Given the description of an element on the screen output the (x, y) to click on. 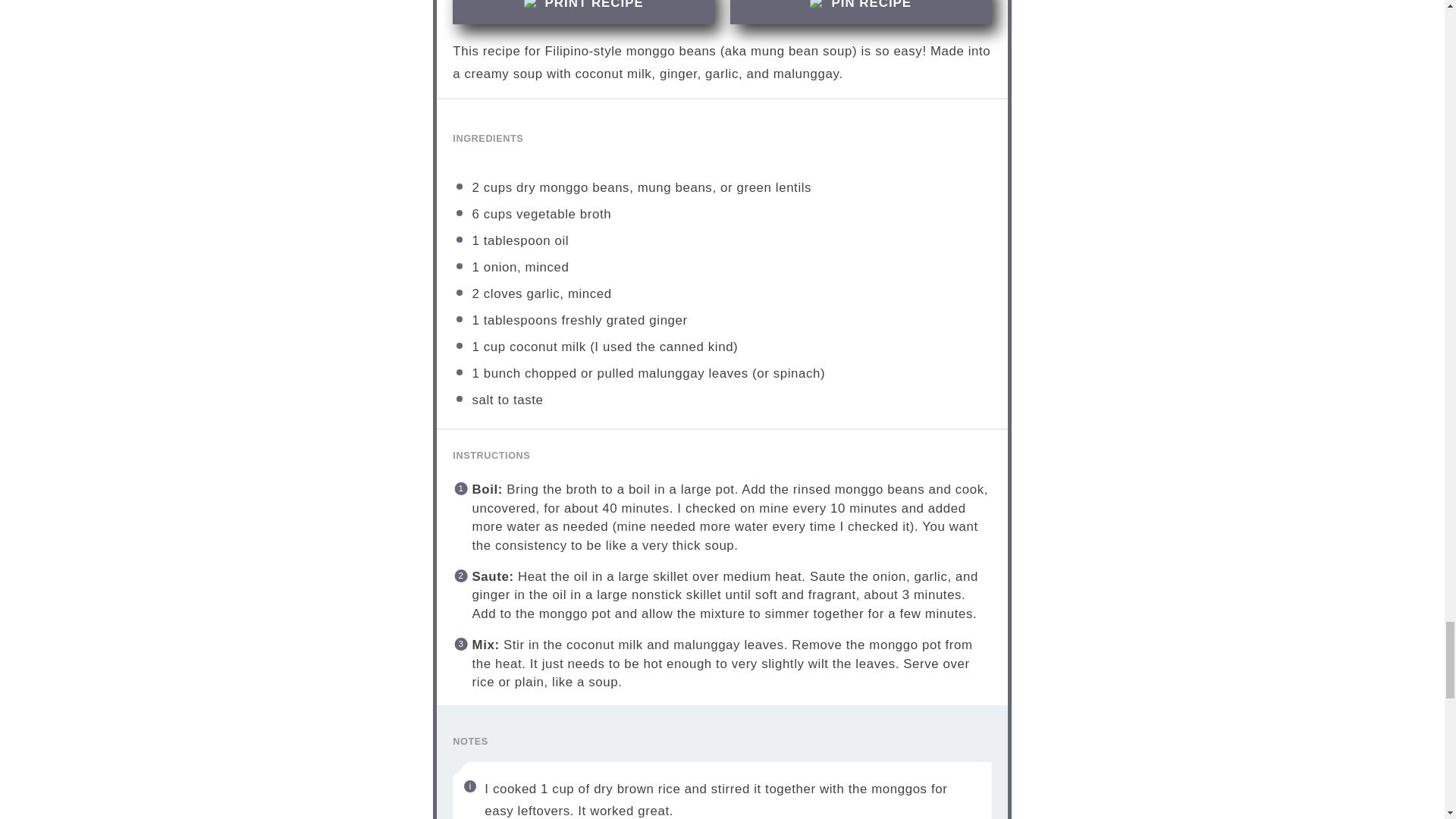
PRINT RECIPE (583, 12)
PIN RECIPE (860, 12)
